Given the description of an element on the screen output the (x, y) to click on. 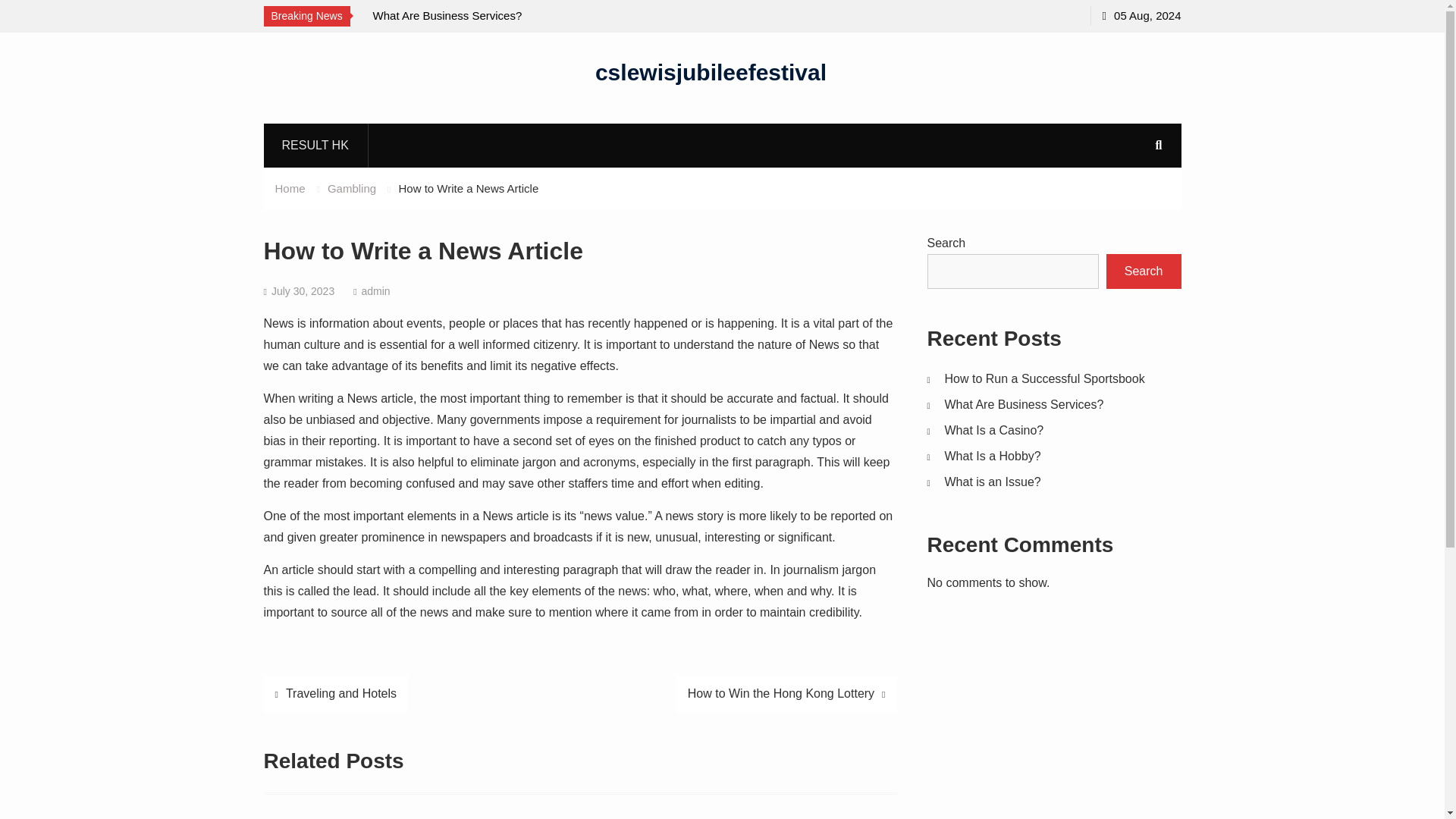
July 30, 2023 (302, 291)
admin (375, 291)
Home (289, 187)
What Is a Casino? (993, 430)
What is an Issue? (992, 481)
How to Win the Hong Kong Lottery (786, 693)
Search (1143, 271)
Gambling (351, 187)
What Are Business Services? (1023, 404)
RESULT HK (315, 144)
